Given the description of an element on the screen output the (x, y) to click on. 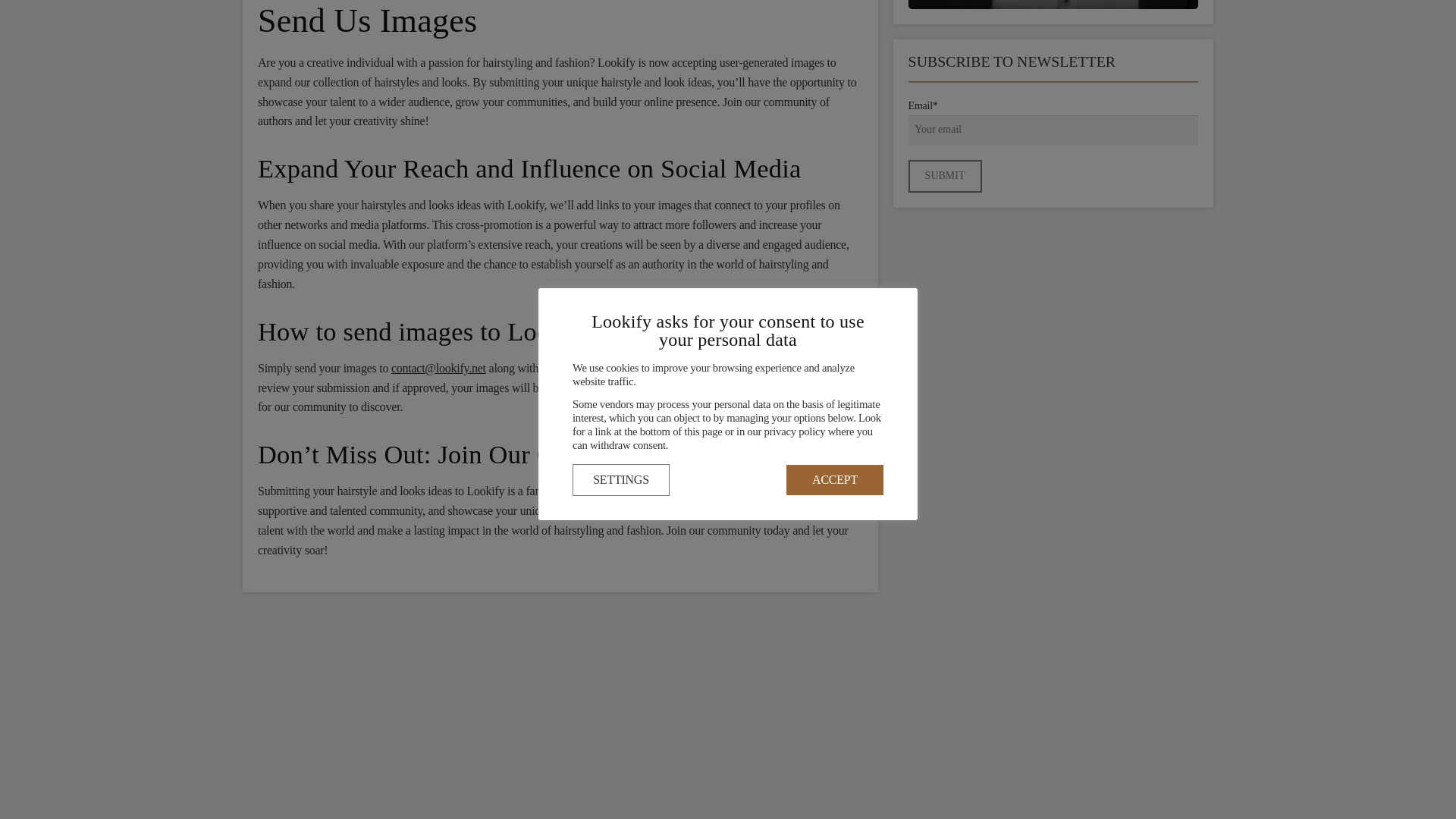
Submit (944, 175)
SEE MORE (1053, 4)
